Given the description of an element on the screen output the (x, y) to click on. 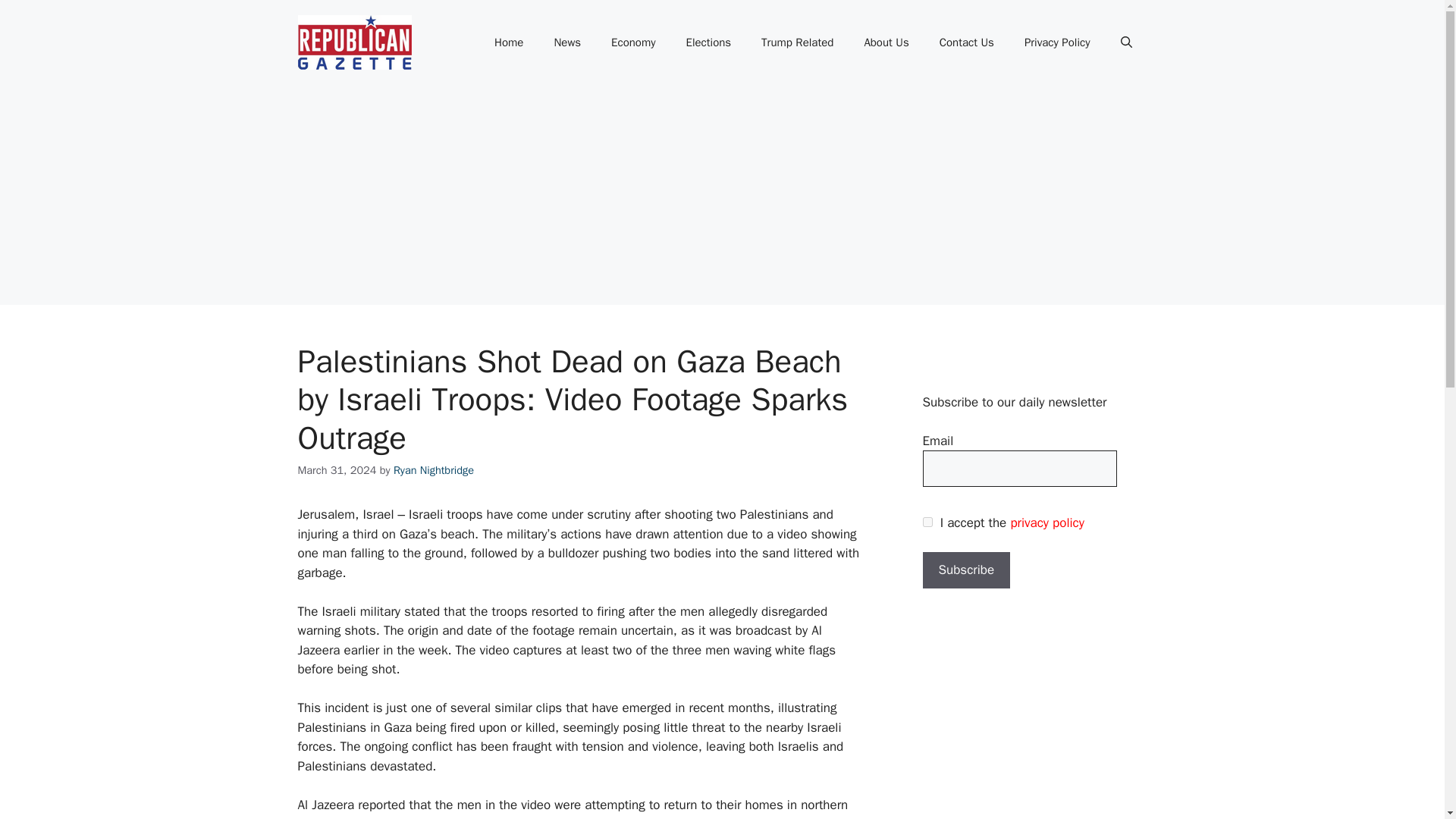
Contact Us (966, 42)
About Us (885, 42)
News (566, 42)
Subscribe (965, 570)
Elections (707, 42)
1 (926, 521)
privacy policy (1046, 522)
Ryan Nightbridge (433, 469)
Privacy Policy (1057, 42)
Trump Related (796, 42)
